Given the description of an element on the screen output the (x, y) to click on. 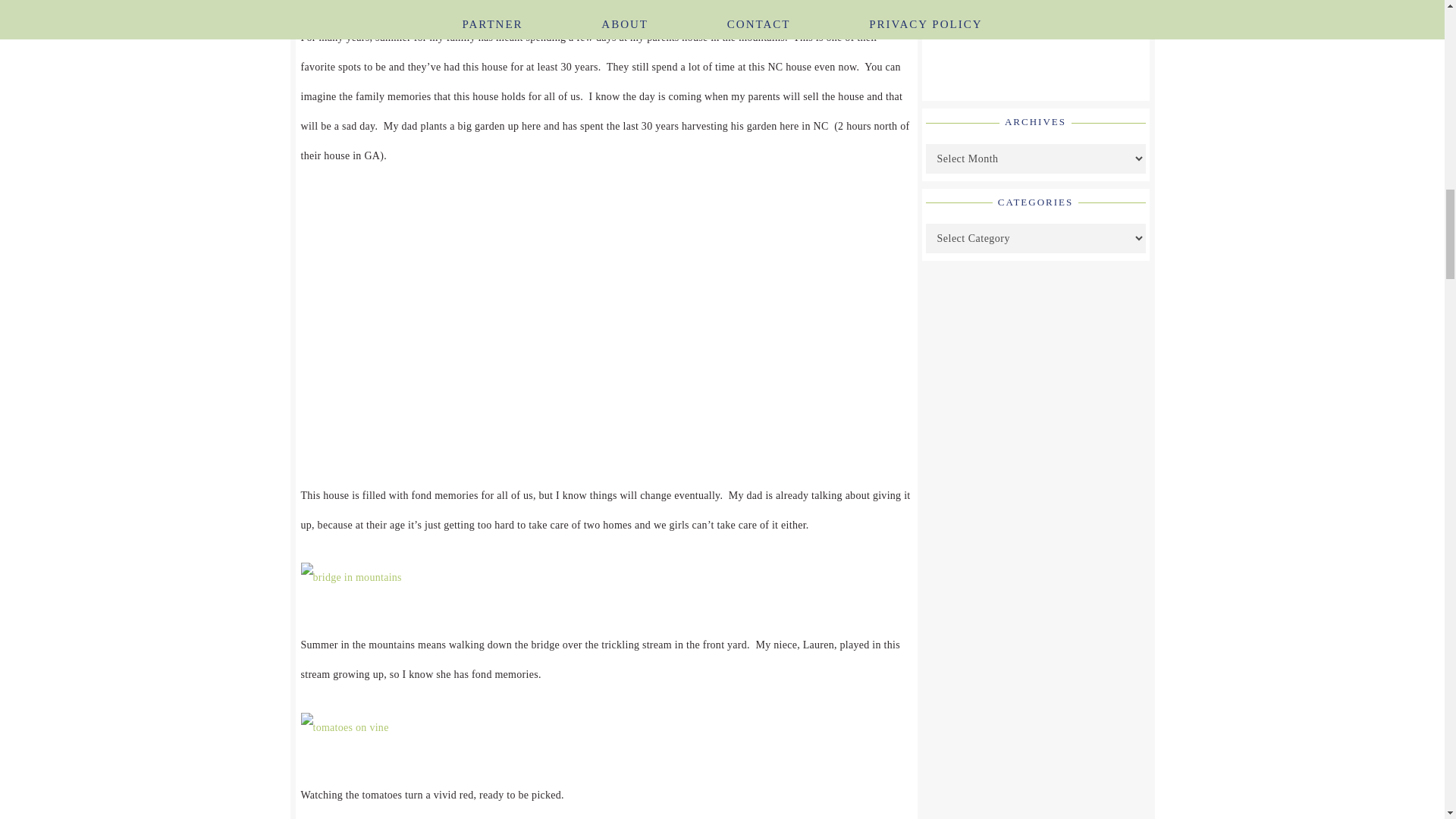
tomatoes on vine (343, 727)
bridge in mountains (350, 577)
